Given the description of an element on the screen output the (x, y) to click on. 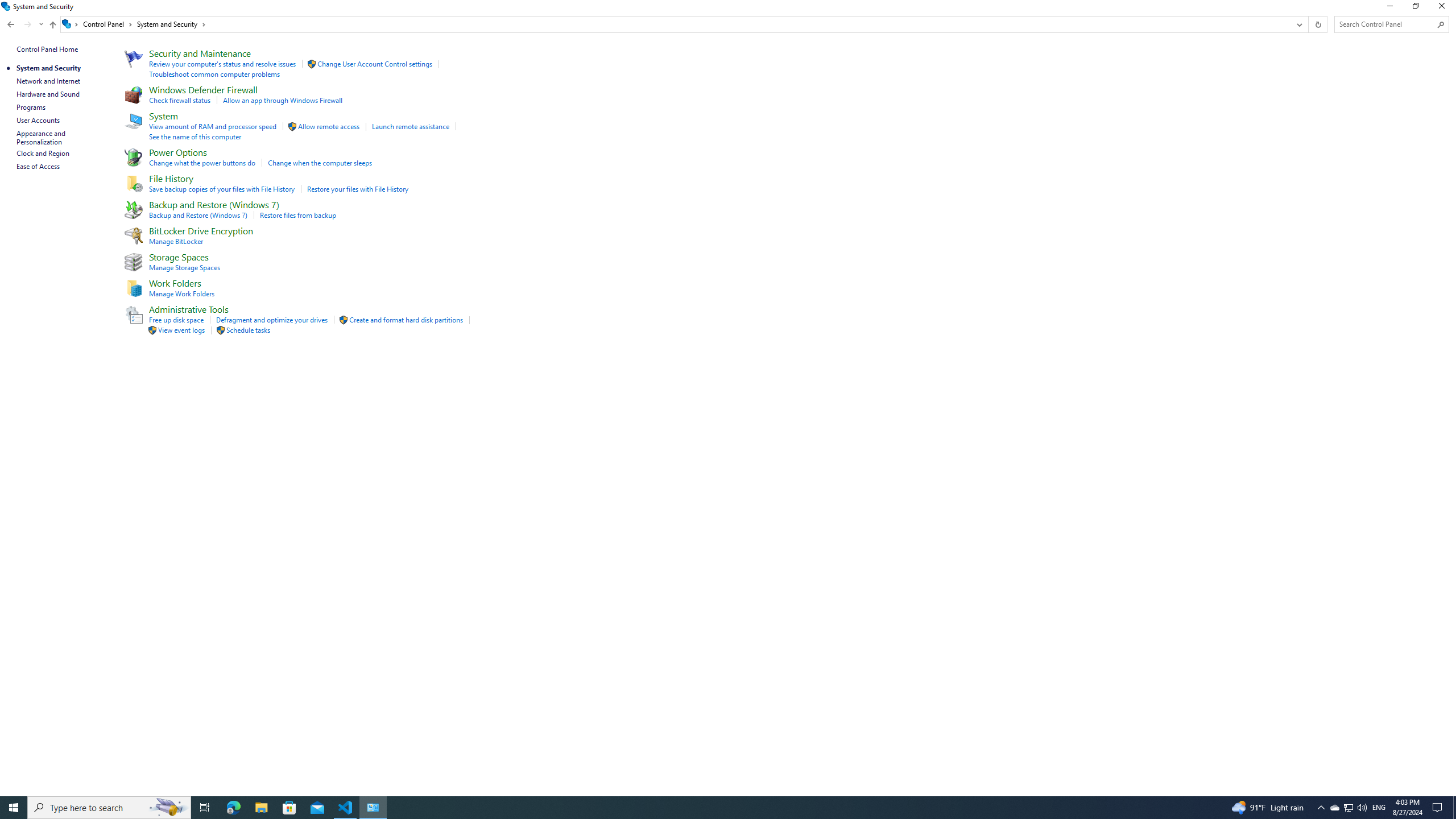
Navigation buttons (24, 23)
Up to "Control Panel" (Alt + Up Arrow) (52, 24)
Schedule tasks (247, 329)
User Accounts (38, 120)
Action Center, No new notifications (1439, 807)
Previous Locations (1298, 23)
Manage Storage Spaces (184, 267)
Backup and Restore (Windows 7) (198, 215)
